Given the description of an element on the screen output the (x, y) to click on. 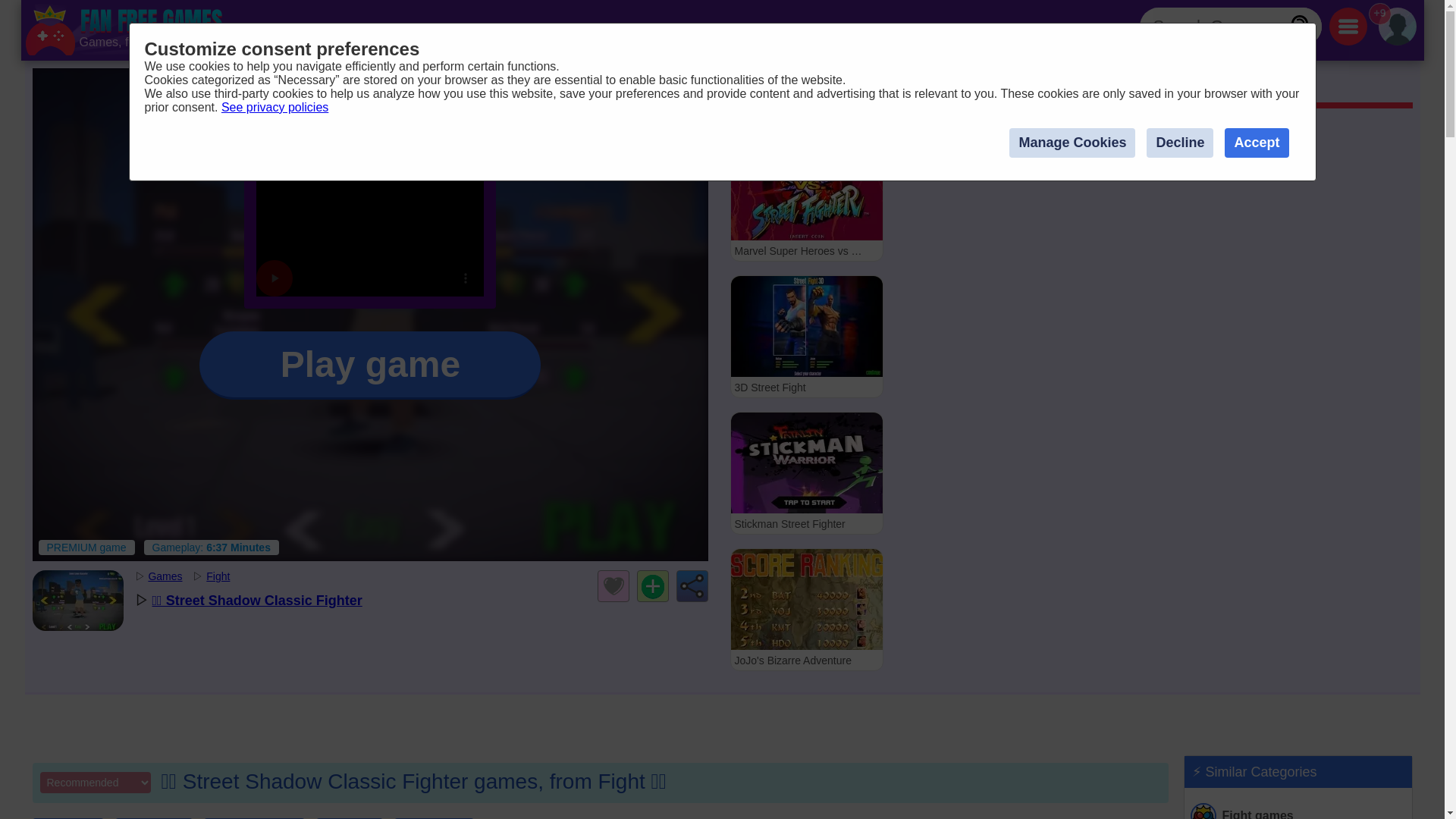
Marvel Super Heroes vs Street Fighter Online (805, 199)
Games (756, 87)
Play game (369, 365)
Stickman Street Fighter (805, 472)
3D Street Fight (805, 336)
JoJo's Bizarre Adventure (805, 608)
Create your game list (652, 585)
JoJo's Bizarre Adventure (805, 608)
Accept (1256, 142)
